Given the description of an element on the screen output the (x, y) to click on. 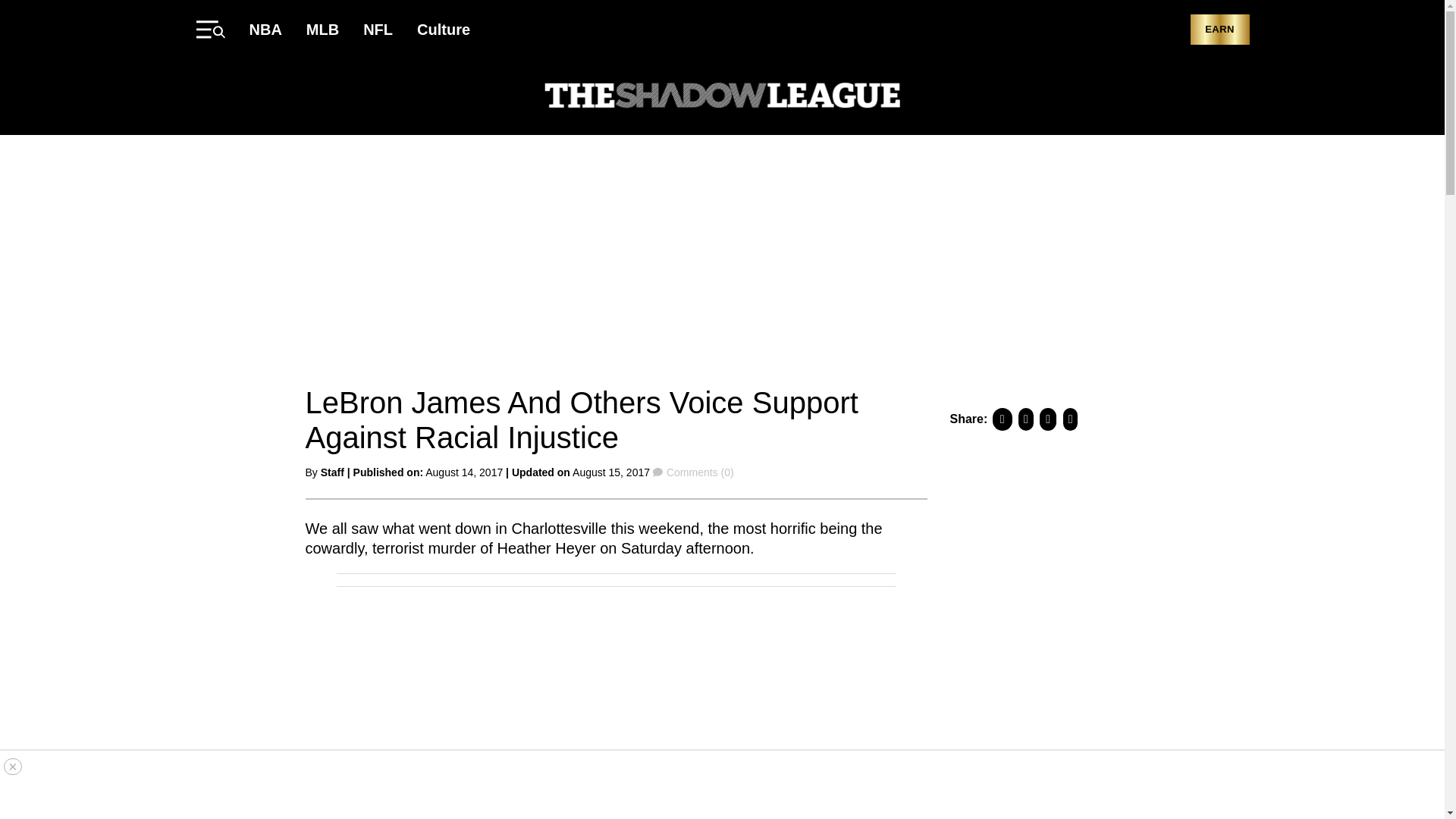
NFL (377, 29)
NBA (264, 29)
Staff (331, 472)
MLB (322, 29)
The Shadow League (721, 96)
Culture (443, 29)
EARN (1220, 29)
